Given the description of an element on the screen output the (x, y) to click on. 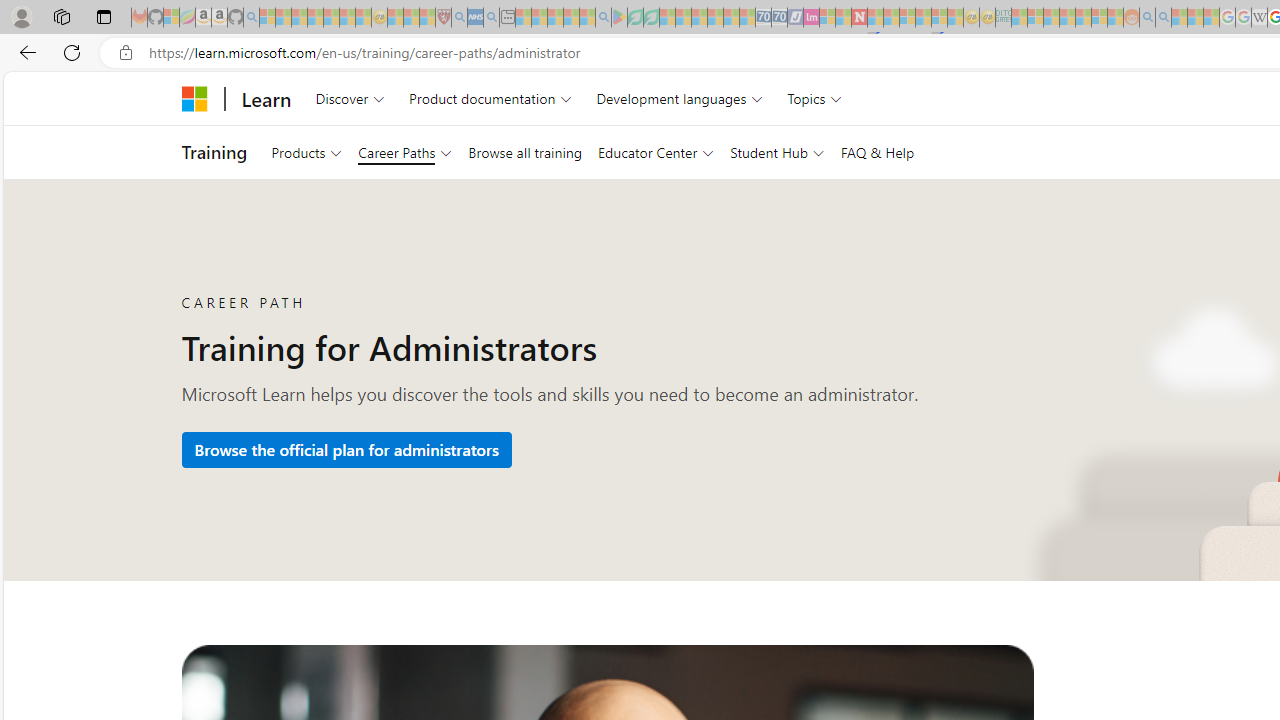
Microsoft-Report a Concern to Bing - Sleeping (171, 17)
The Weather Channel - MSN - Sleeping (299, 17)
Learn (265, 98)
MSNBC - MSN - Sleeping (1019, 17)
Pets - MSN - Sleeping (571, 17)
Terms of Use Agreement - Sleeping (635, 17)
Expert Portfolios - Sleeping (1067, 17)
Topics (815, 98)
